Given the description of an element on the screen output the (x, y) to click on. 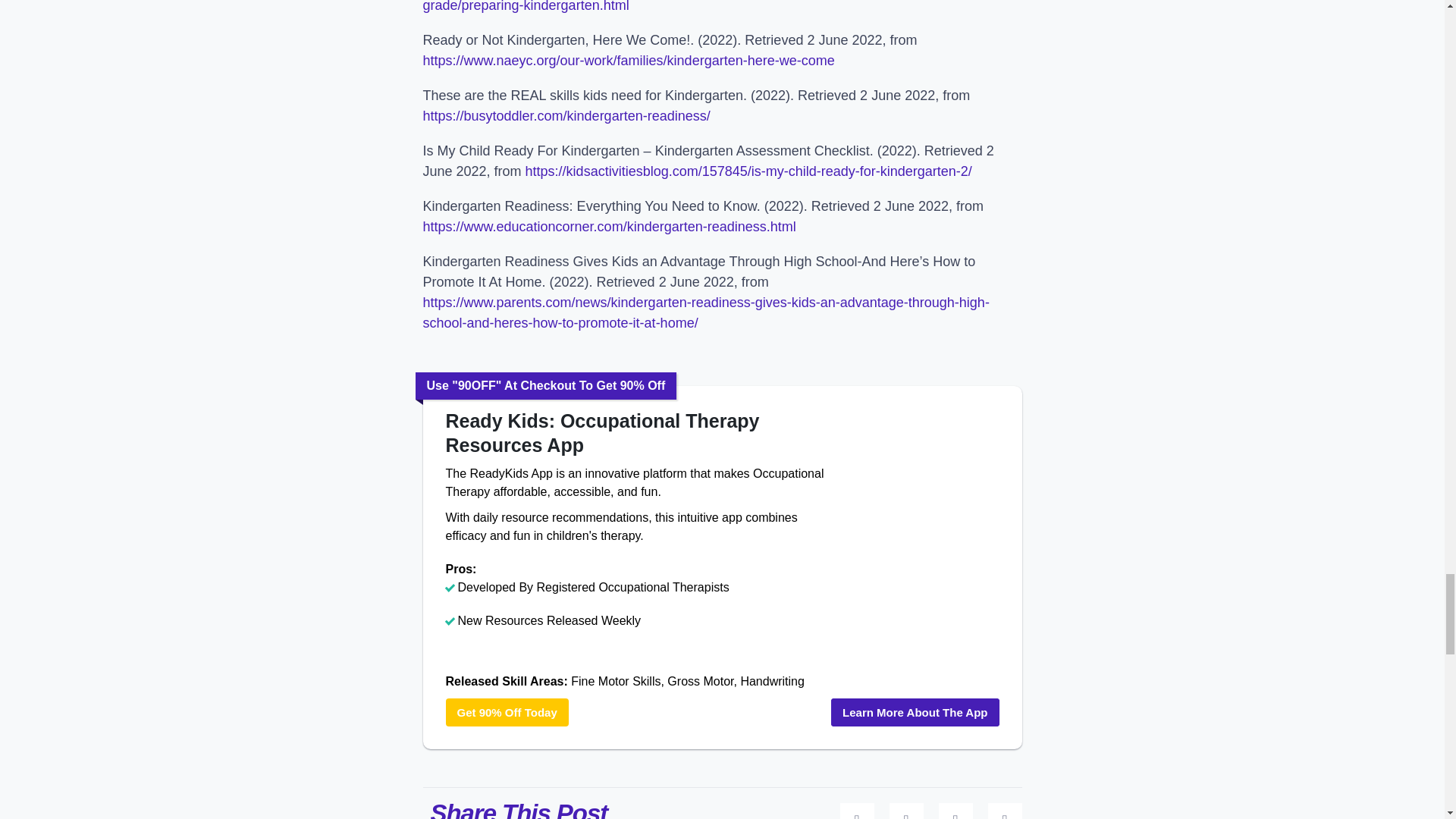
Ready Kids: Occupational Therapy Resources App (636, 432)
Ready Kids: Occupational Therapy Resources App (914, 712)
Ready Kids: Occupational Therapy Resources App (507, 712)
Ready Kids: Occupational Therapy Resources App (924, 563)
